Given the description of an element on the screen output the (x, y) to click on. 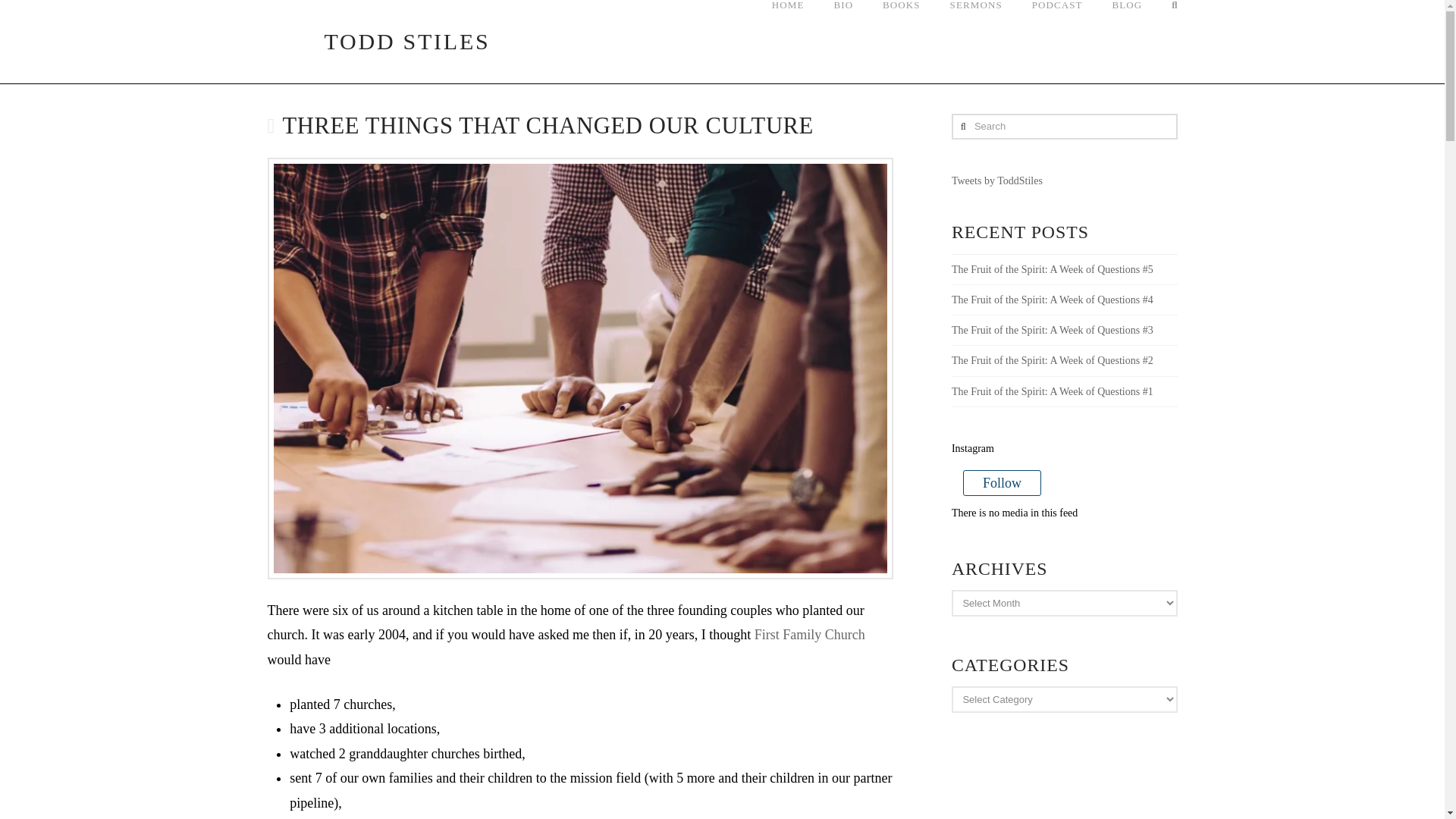
First Family Church (809, 634)
Tweets by ToddStiles (997, 180)
SERMONS (975, 41)
TODD STILES (377, 41)
PODCAST (1056, 41)
